Given the description of an element on the screen output the (x, y) to click on. 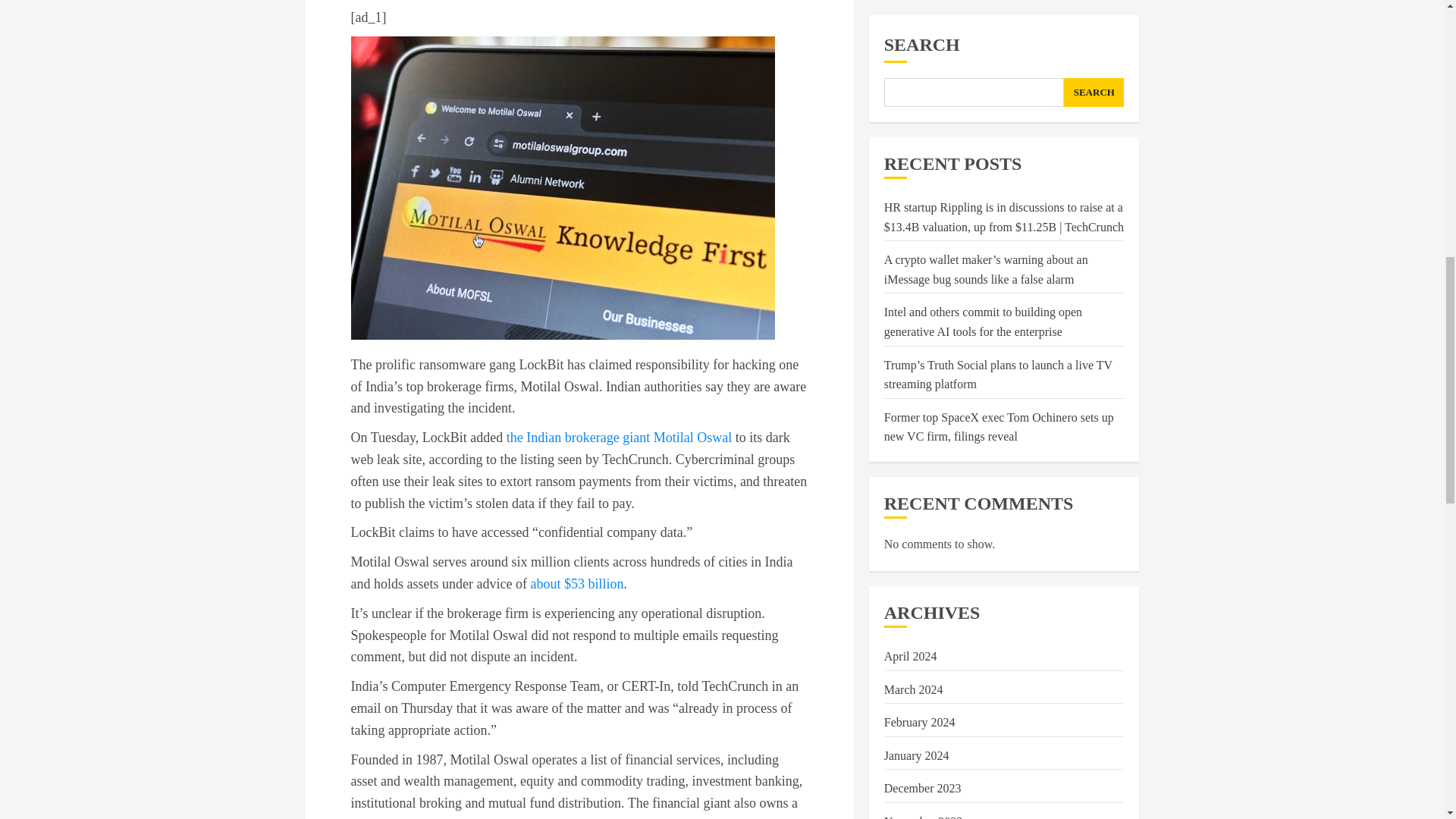
the Indian brokerage giant Motilal Oswal (619, 437)
